Given the description of an element on the screen output the (x, y) to click on. 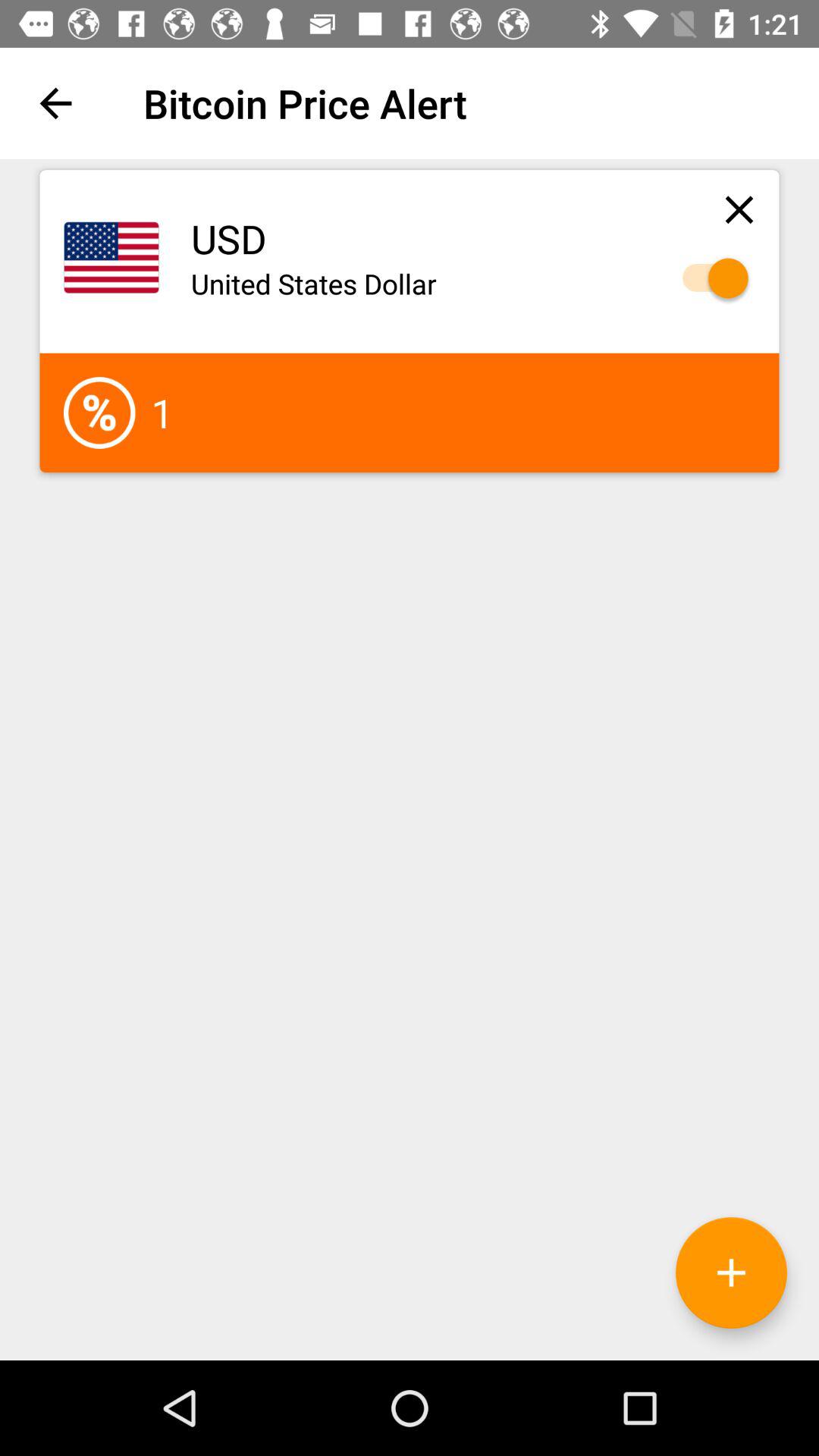
close page (739, 209)
